Given the description of an element on the screen output the (x, y) to click on. 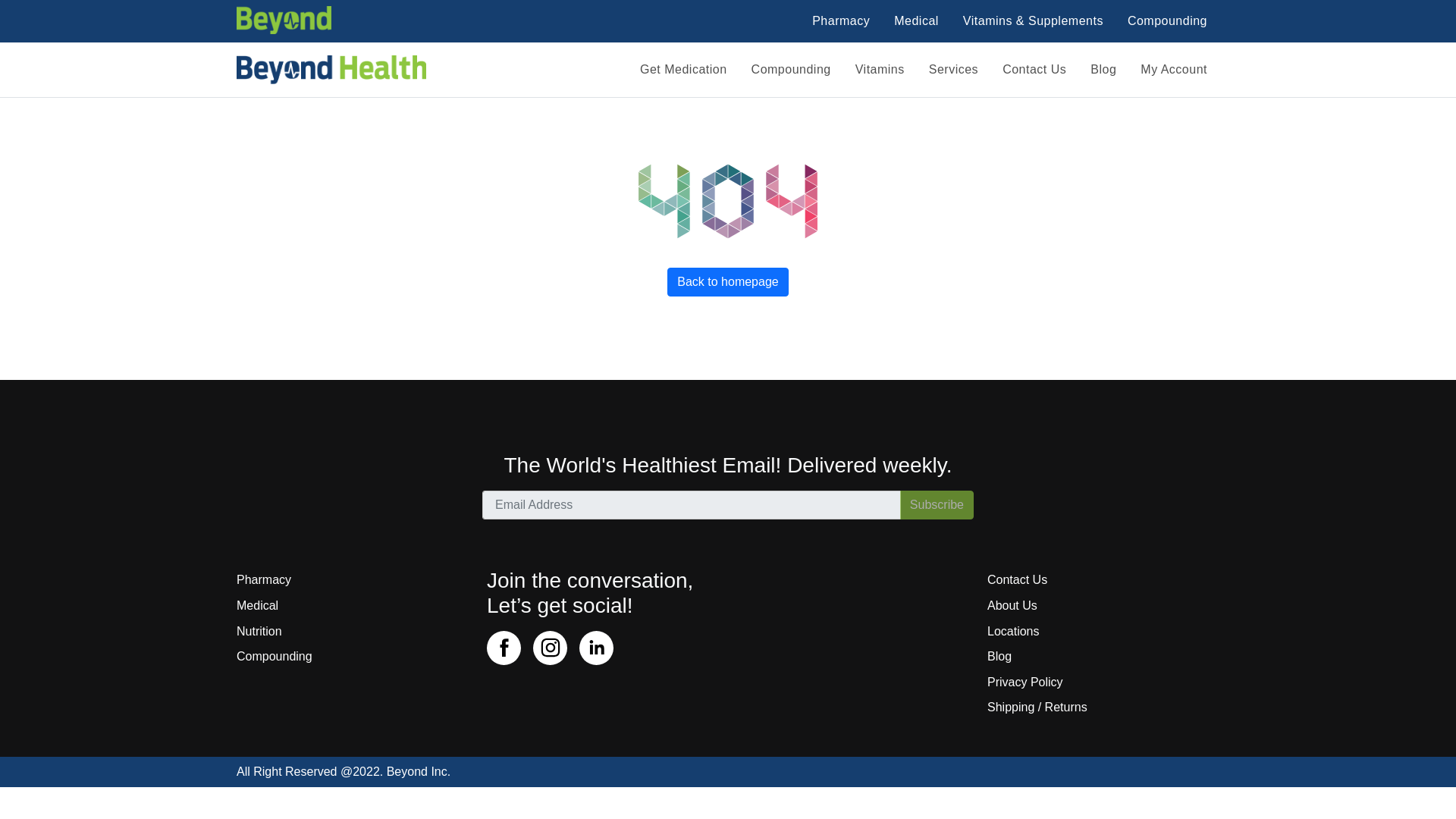
Pharmacy (351, 580)
Privacy Policy (1103, 682)
Back to homepage (726, 281)
About Us (1103, 605)
Facebook (503, 647)
Blog (1103, 69)
Get Medication (683, 69)
Contact Us (1103, 580)
Nutrition (351, 631)
Compounding (1167, 20)
